Given the description of an element on the screen output the (x, y) to click on. 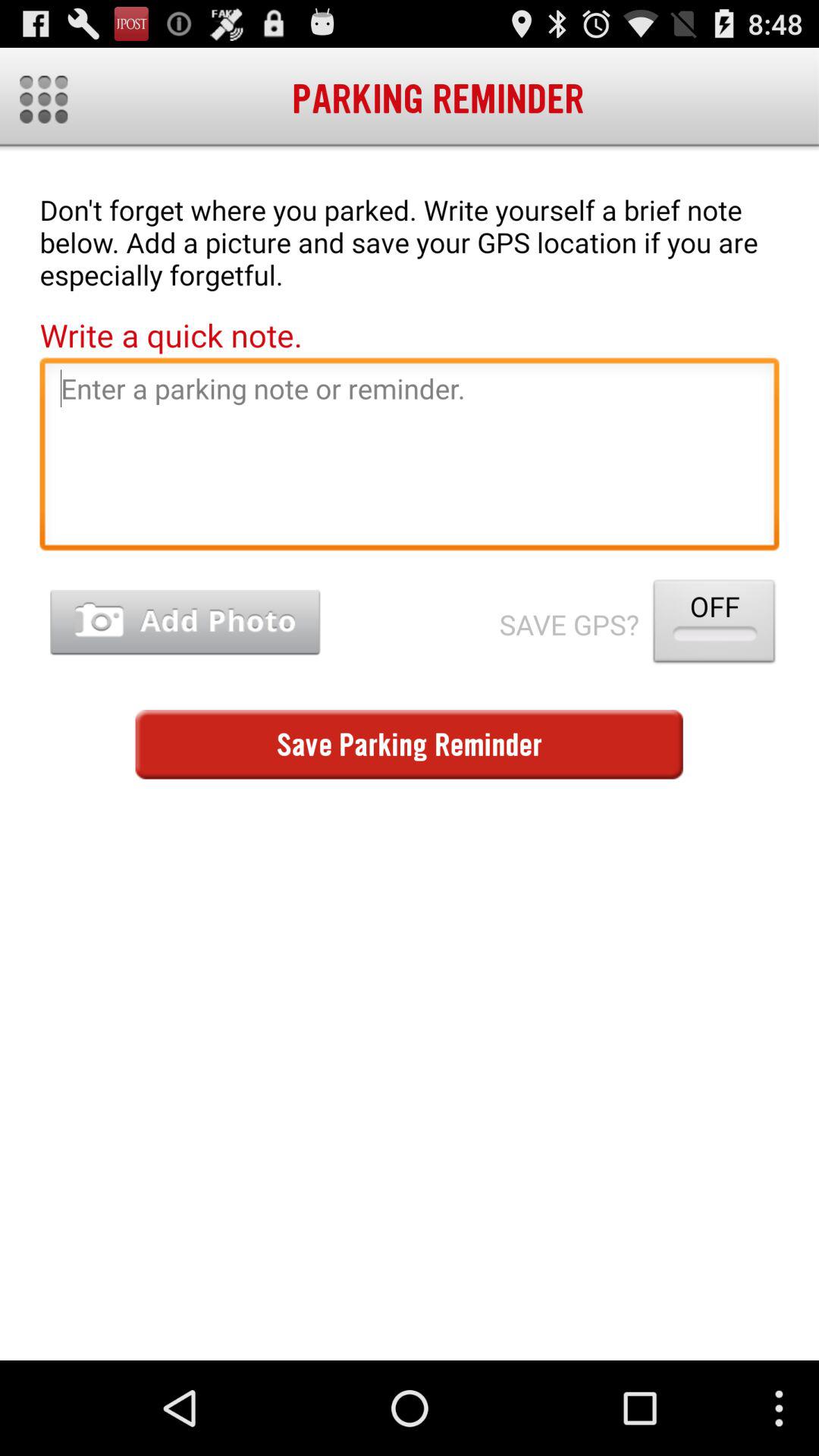
add picture (185, 622)
